Given the description of an element on the screen output the (x, y) to click on. 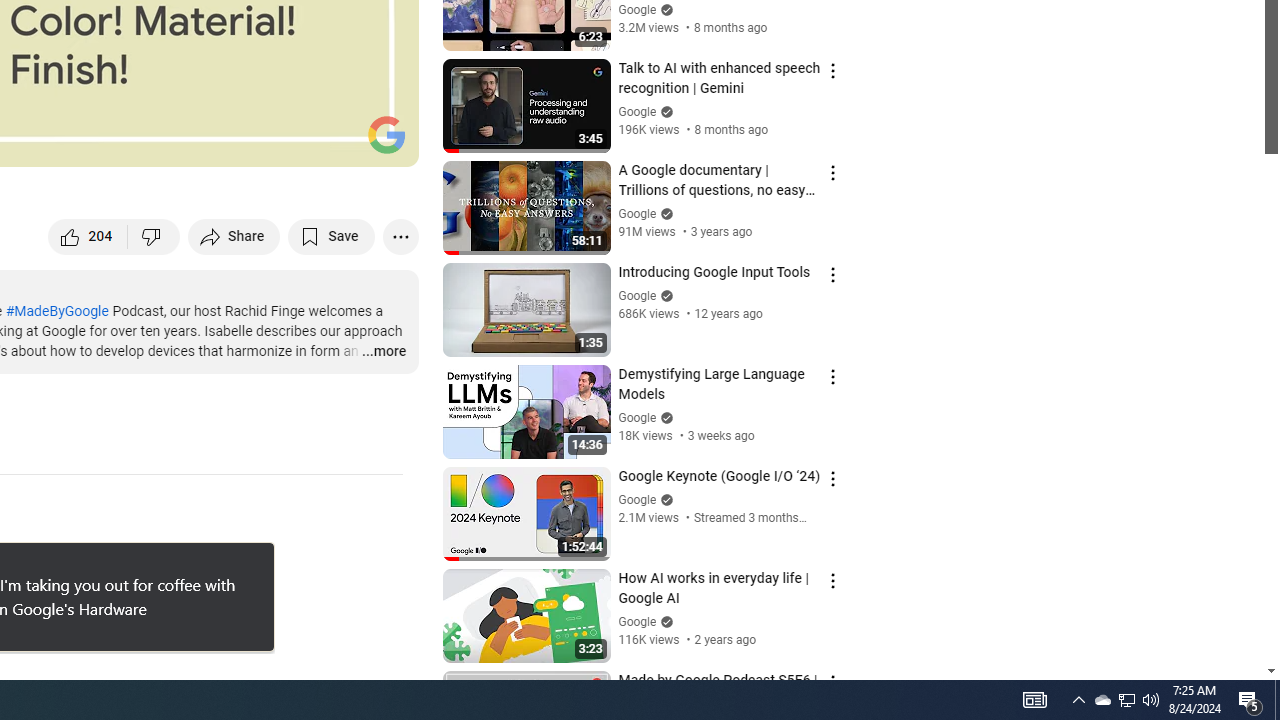
More actions (399, 236)
Theater mode (t) (333, 142)
Verified (664, 621)
Channel watermark (386, 134)
like this video along with 204 other people (88, 236)
